Given the description of an element on the screen output the (x, y) to click on. 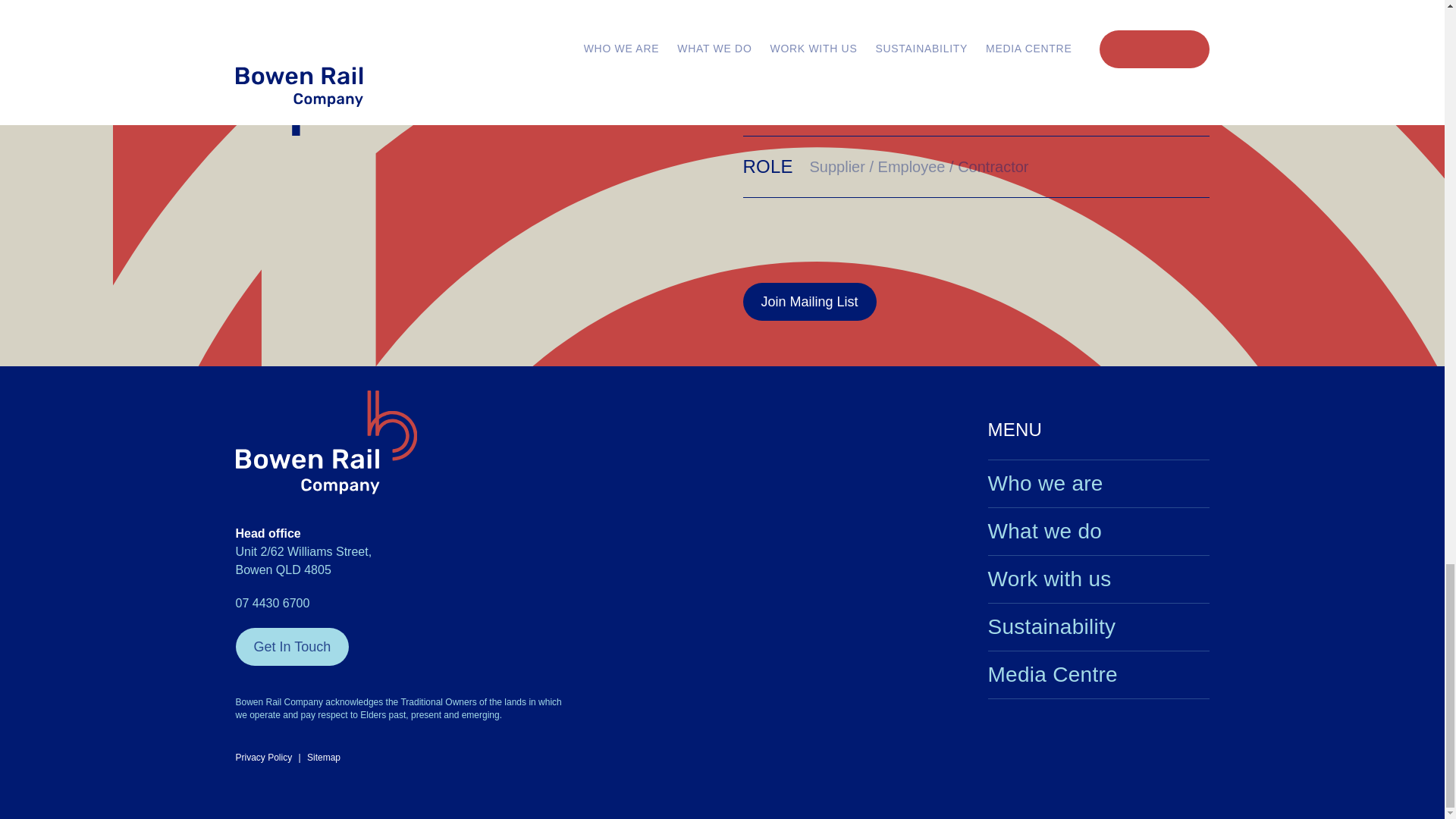
Privacy Policy (263, 757)
Join Mailing List (809, 301)
Who we are (1097, 483)
What we do (1097, 531)
Work with us (1097, 578)
Sitemap (323, 757)
Get In Touch (291, 646)
